Given the description of an element on the screen output the (x, y) to click on. 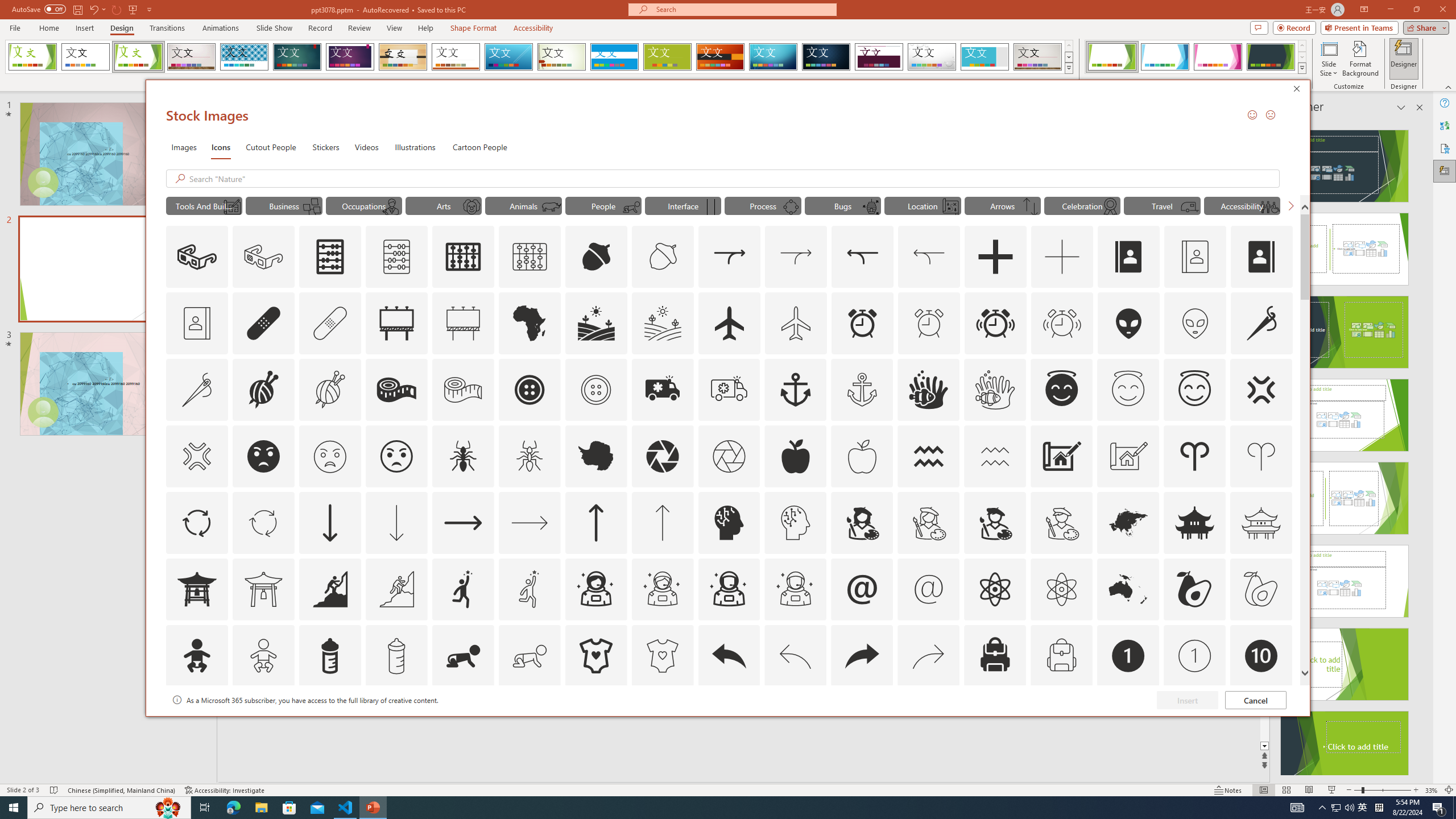
AutomationID: Icons_ArrowDown (329, 522)
IME Mode Icon - IME is disabled (1362, 807)
AutomationID: Icons_Aspiration1_M (529, 588)
"Tools And Building" Icons. (203, 205)
Damask (826, 56)
AutomationID: Icons_AlarmClock_M (928, 323)
AutomationID: ThemeVariantsGallery (1195, 56)
AutomationID: Icons_Badge10 (1260, 655)
Gallery (1037, 56)
